Given the description of an element on the screen output the (x, y) to click on. 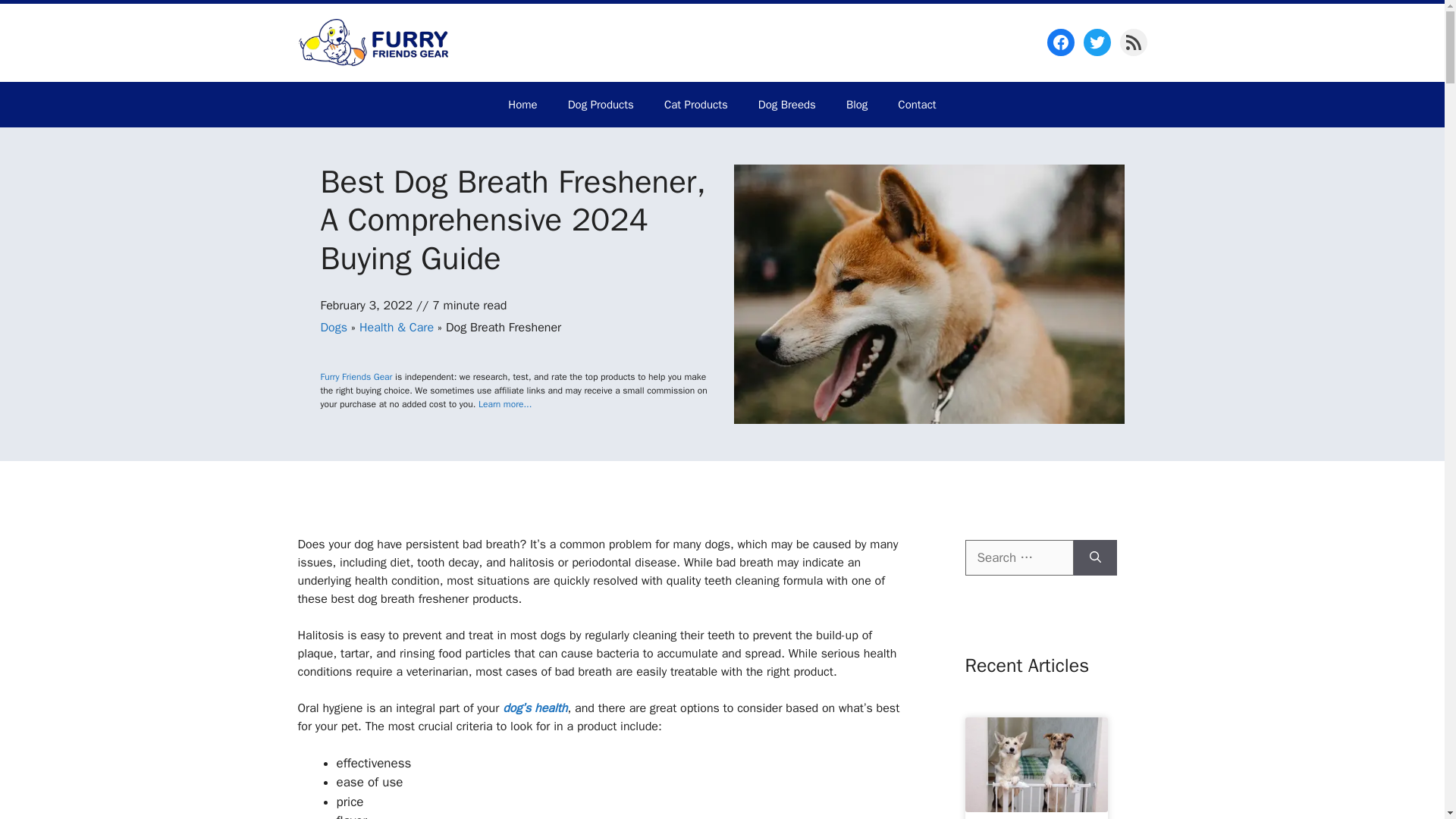
Home (522, 104)
Contact (916, 104)
Twitter (1096, 42)
Furry Friends Gear (355, 377)
Learn more... (505, 404)
Dog Breeds (786, 104)
Blog (856, 104)
Search for: (1018, 557)
Dog Products (601, 104)
Facebook (1060, 42)
RSS Feed (1133, 42)
Dogs (333, 327)
Cat Products (695, 104)
